Given the description of an element on the screen output the (x, y) to click on. 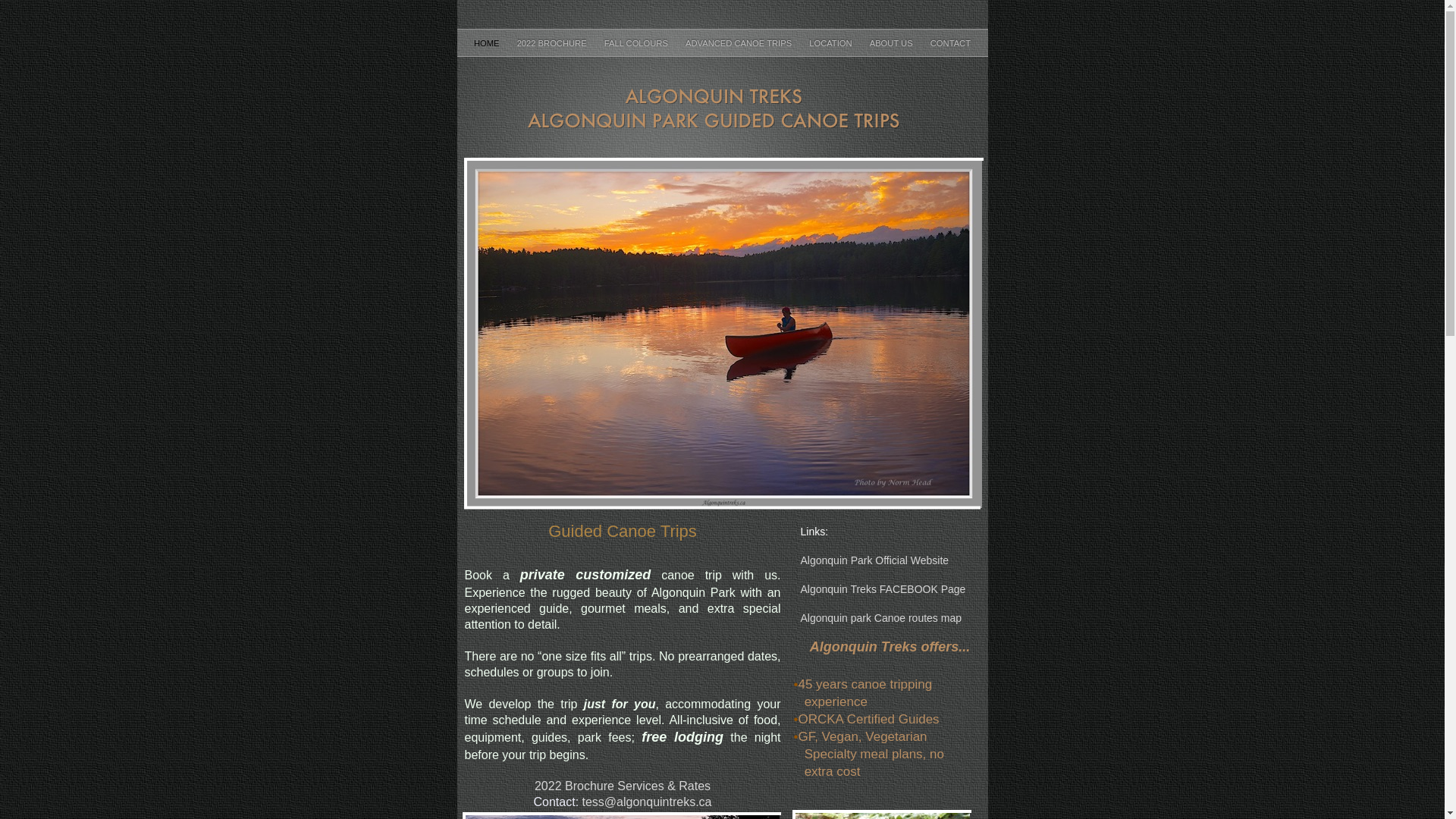
2022 BROCHURE Element type: text (553, 42)
ABOUT US Element type: text (892, 42)
Algonquin park Canoe routes map Element type: text (880, 617)
Services & Rates Element type: text (663, 785)
tess@algonquintreks.ca Element type: text (647, 801)
FALL COLOURS Element type: text (637, 42)
Algonquin Treks FACEBOOK Page Element type: text (883, 589)
CONTACT Element type: text (950, 42)
HOME Element type: text (487, 42)
Algonquin Park Official Website Element type: text (874, 560)
2022 Brochure Element type: text (575, 785)
LOCATION Element type: text (831, 42)
ADVANCED CANOE TRIPS Element type: text (739, 42)
